Given the description of an element on the screen output the (x, y) to click on. 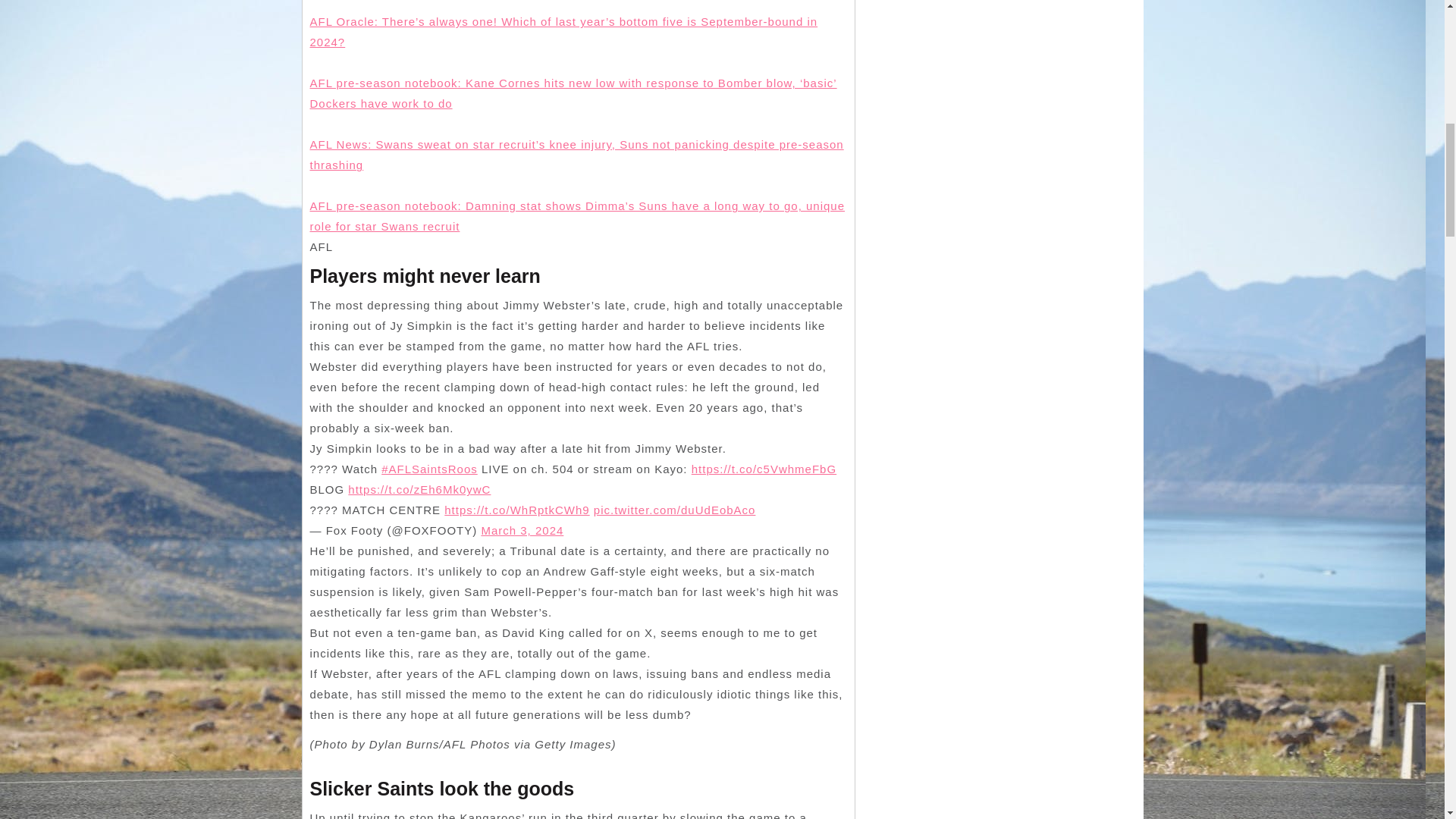
March 3, 2024 (521, 530)
